Given the description of an element on the screen output the (x, y) to click on. 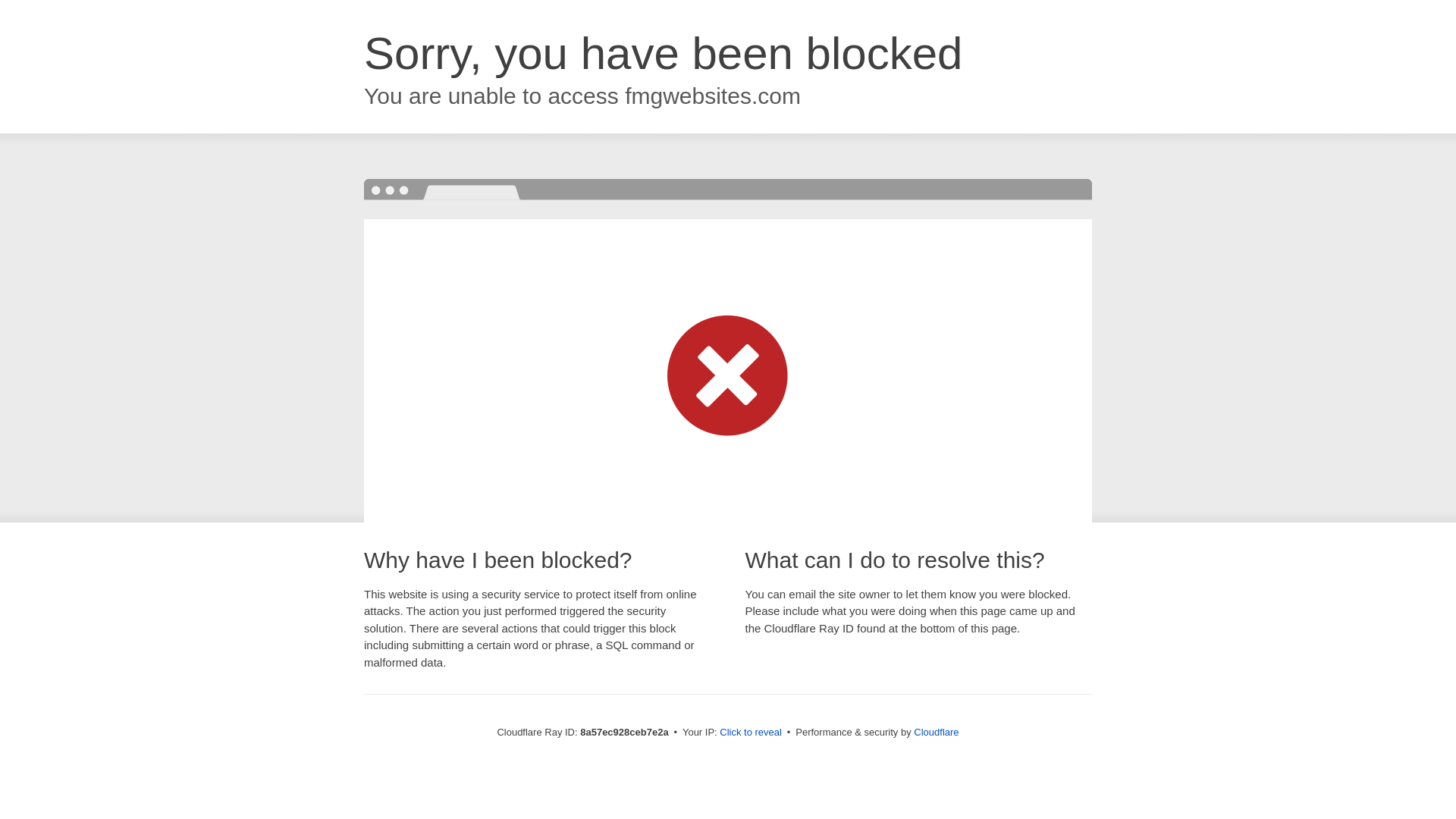
Cloudflare (936, 731)
Click to reveal (750, 732)
